Given the description of an element on the screen output the (x, y) to click on. 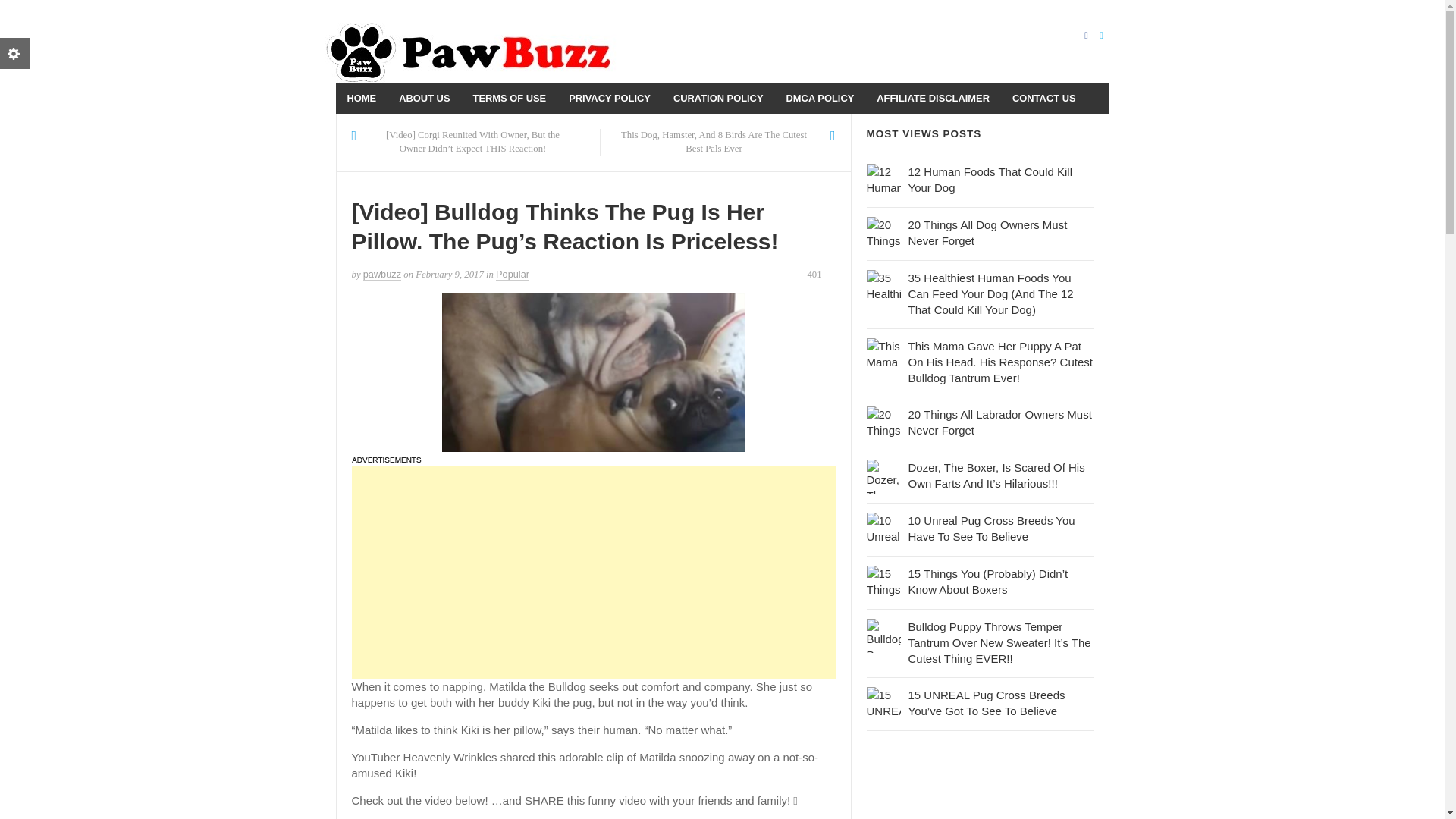
This Dog, Hamster, And 8 Birds Are The Cutest Best Pals Ever (713, 142)
HOME (360, 98)
401 (820, 274)
Advertisement (593, 572)
CURATION POLICY (718, 98)
ABOUT US (424, 98)
PRIVACY POLICY (609, 98)
CONTACT US (1044, 98)
Popular (512, 274)
February 9, 2017 (448, 274)
